Given the description of an element on the screen output the (x, y) to click on. 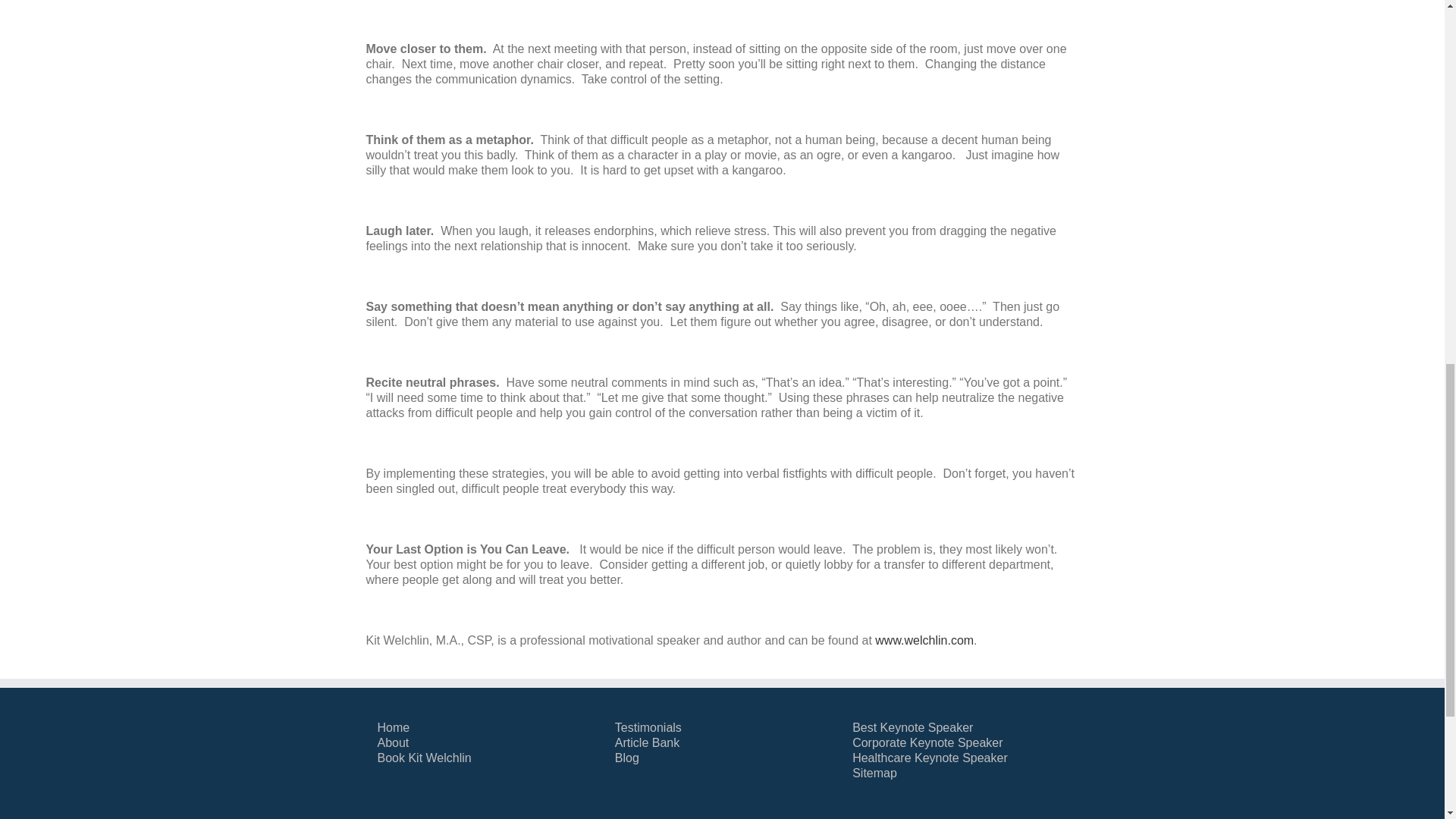
About (484, 743)
Testimonials (721, 727)
Best Keynote Speaker (959, 727)
Corporate Keynote Speaker (959, 743)
Healthcare Keynote Speaker (959, 758)
Sitemap (959, 773)
Home (484, 727)
www.welchlin.com (924, 640)
Book Kit Welchlin (484, 758)
Blog (721, 758)
Article Bank (721, 743)
